Given the description of an element on the screen output the (x, y) to click on. 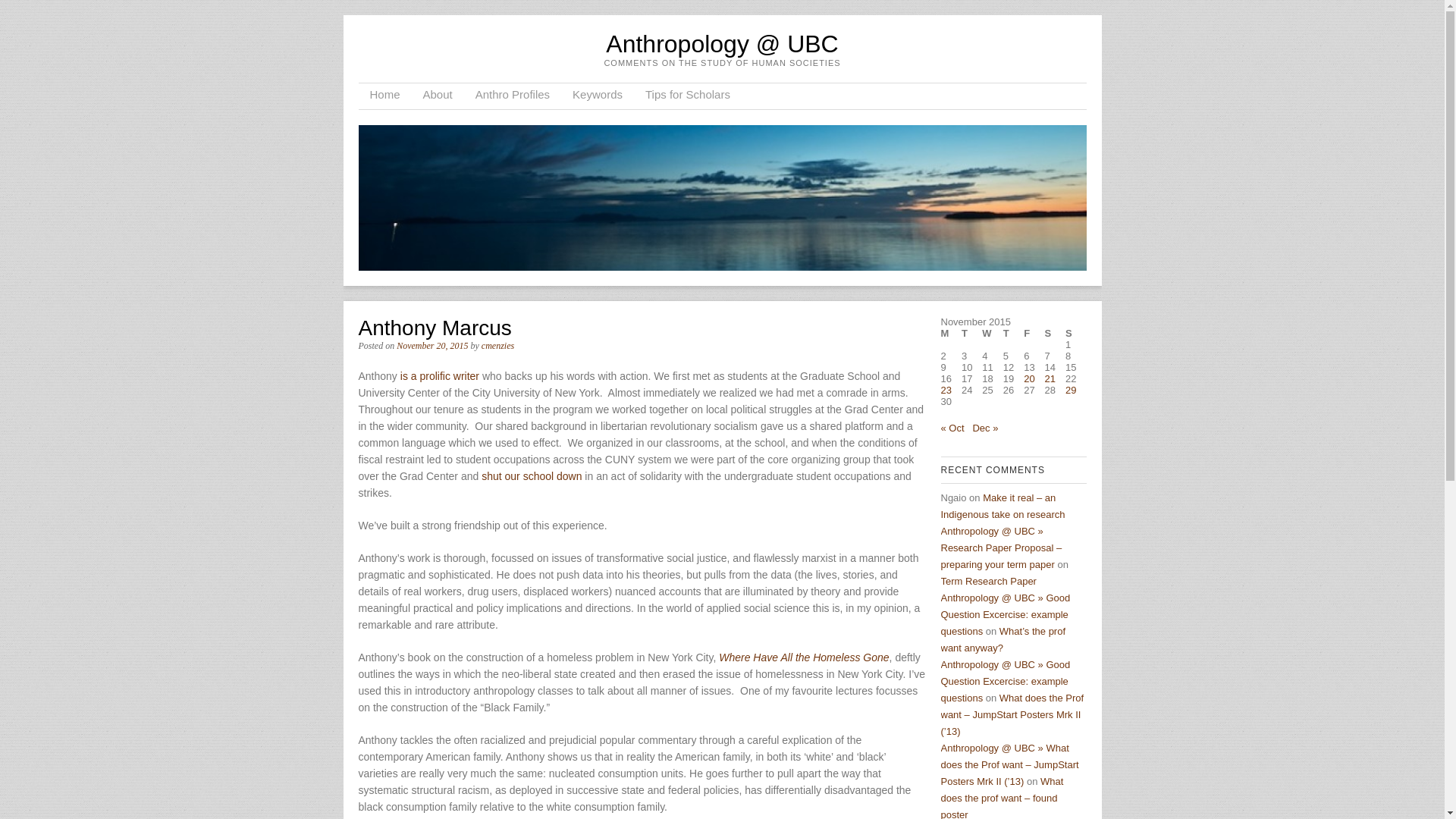
29 (1070, 389)
Anthro Profiles (512, 95)
Monday (950, 333)
Friday (1033, 333)
Keywords (596, 95)
21 (1050, 378)
is a prolific writer (439, 376)
About (438, 95)
Where Have All the Homeless Gone (803, 657)
shut our school down (530, 476)
Skip to content (406, 95)
Saturday (1055, 333)
Skip to content (406, 95)
23 (945, 389)
cmenzies (497, 345)
